Given the description of an element on the screen output the (x, y) to click on. 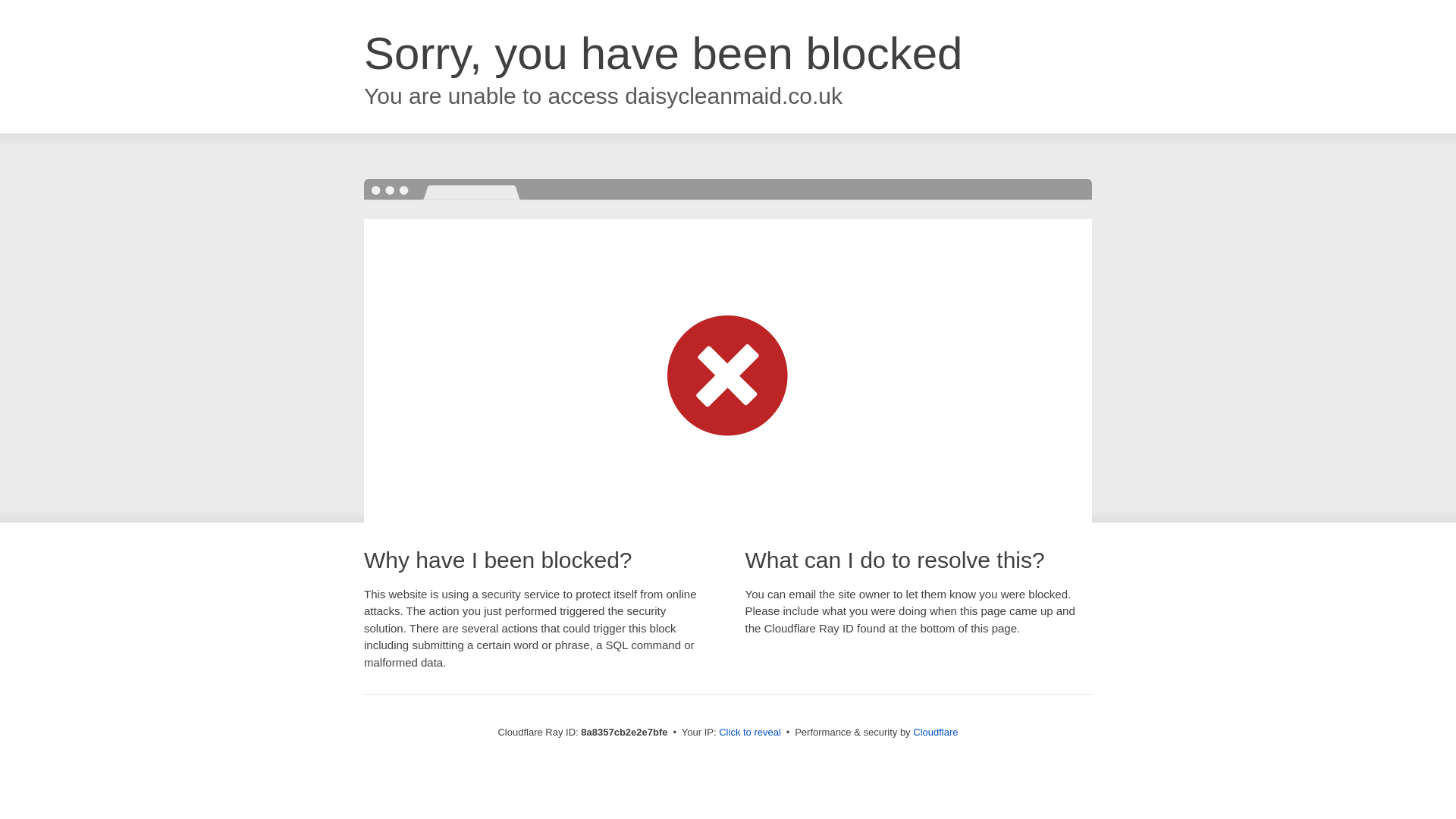
Cloudflare (935, 731)
Click to reveal (749, 732)
